Given the description of an element on the screen output the (x, y) to click on. 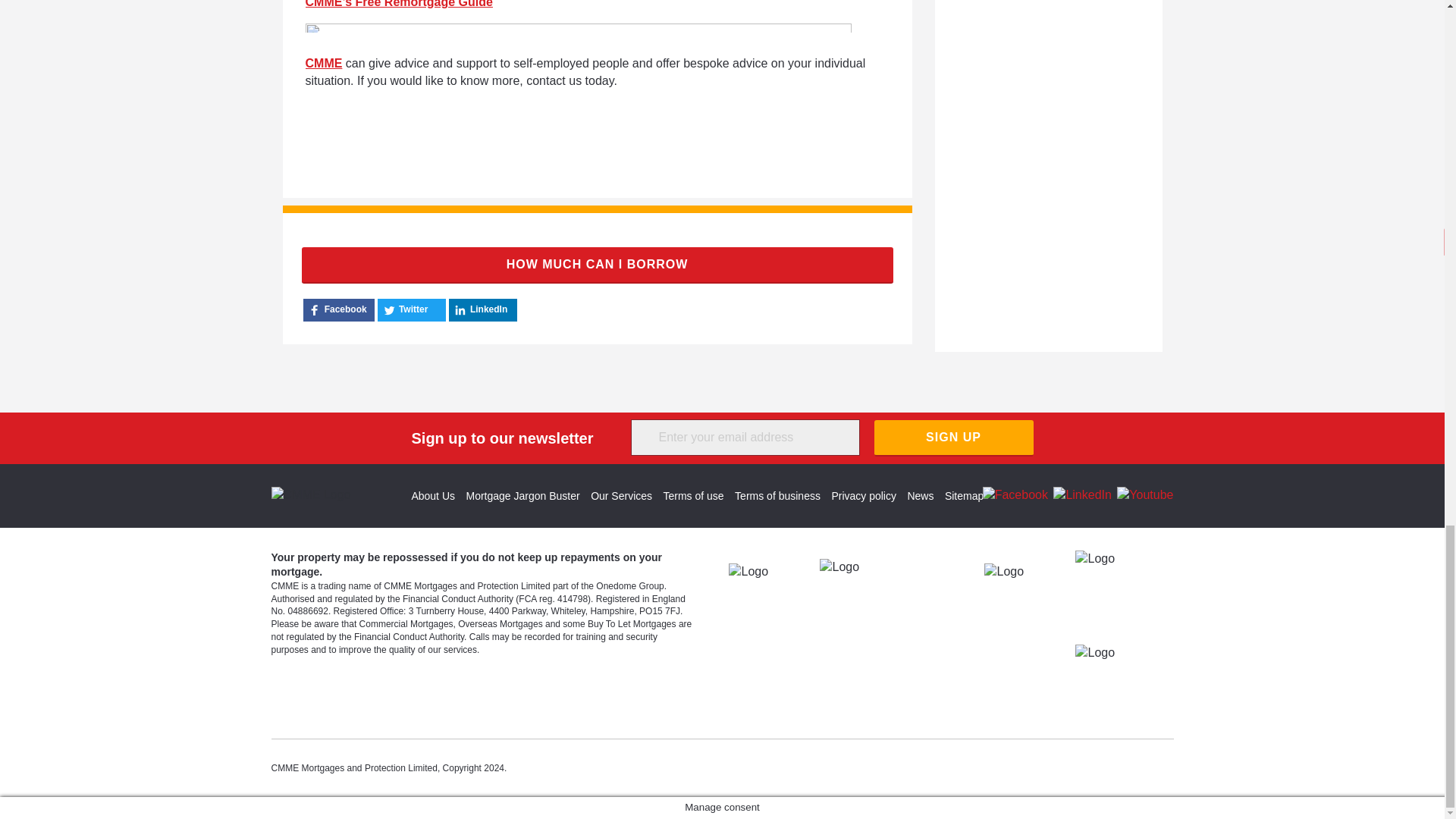
How much can I borrow (597, 265)
LinkedIn (1082, 494)
Youtube (1144, 494)
Facebook (1015, 494)
